Given the description of an element on the screen output the (x, y) to click on. 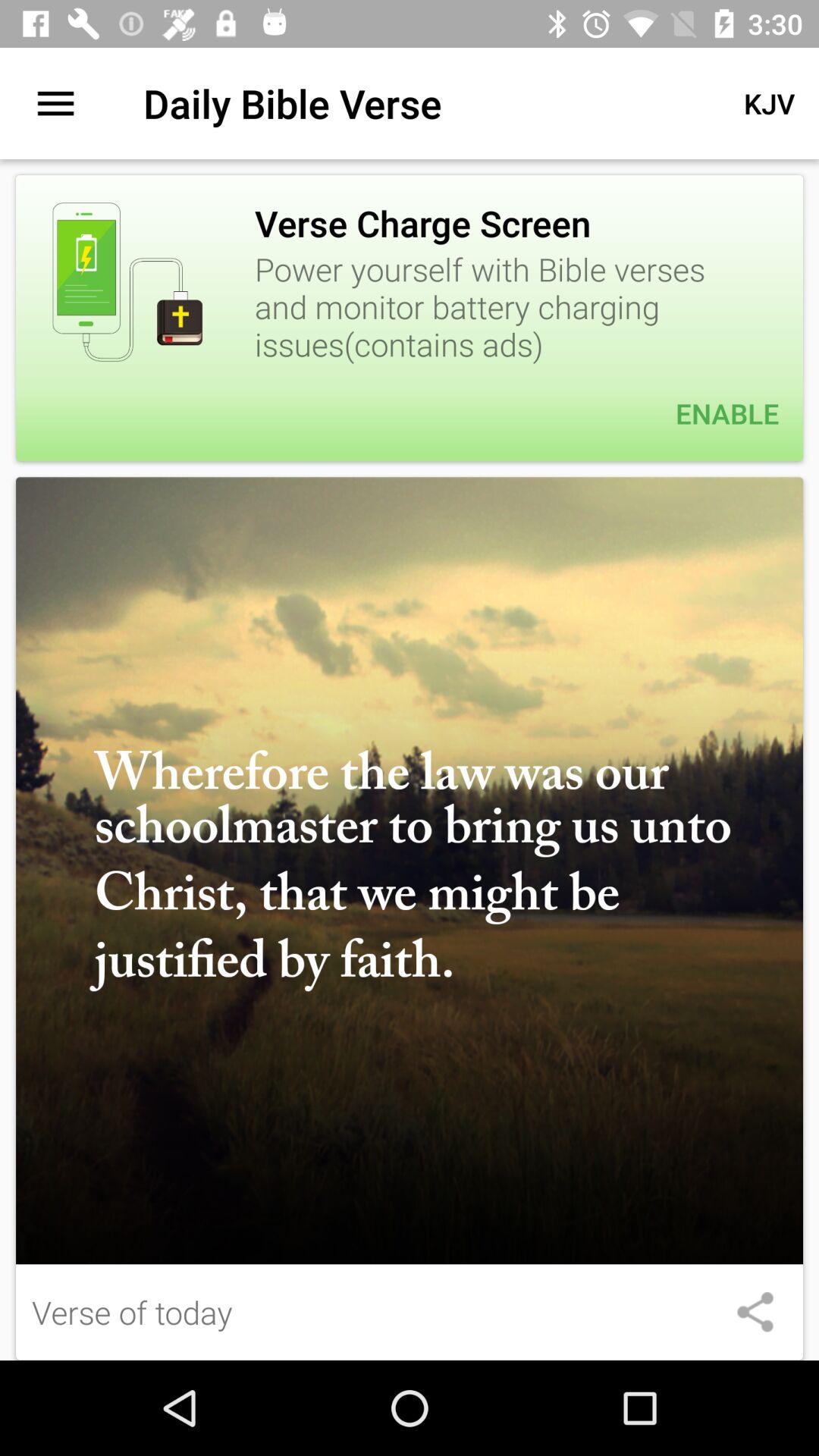
swipe until the kjv item (769, 103)
